Given the description of an element on the screen output the (x, y) to click on. 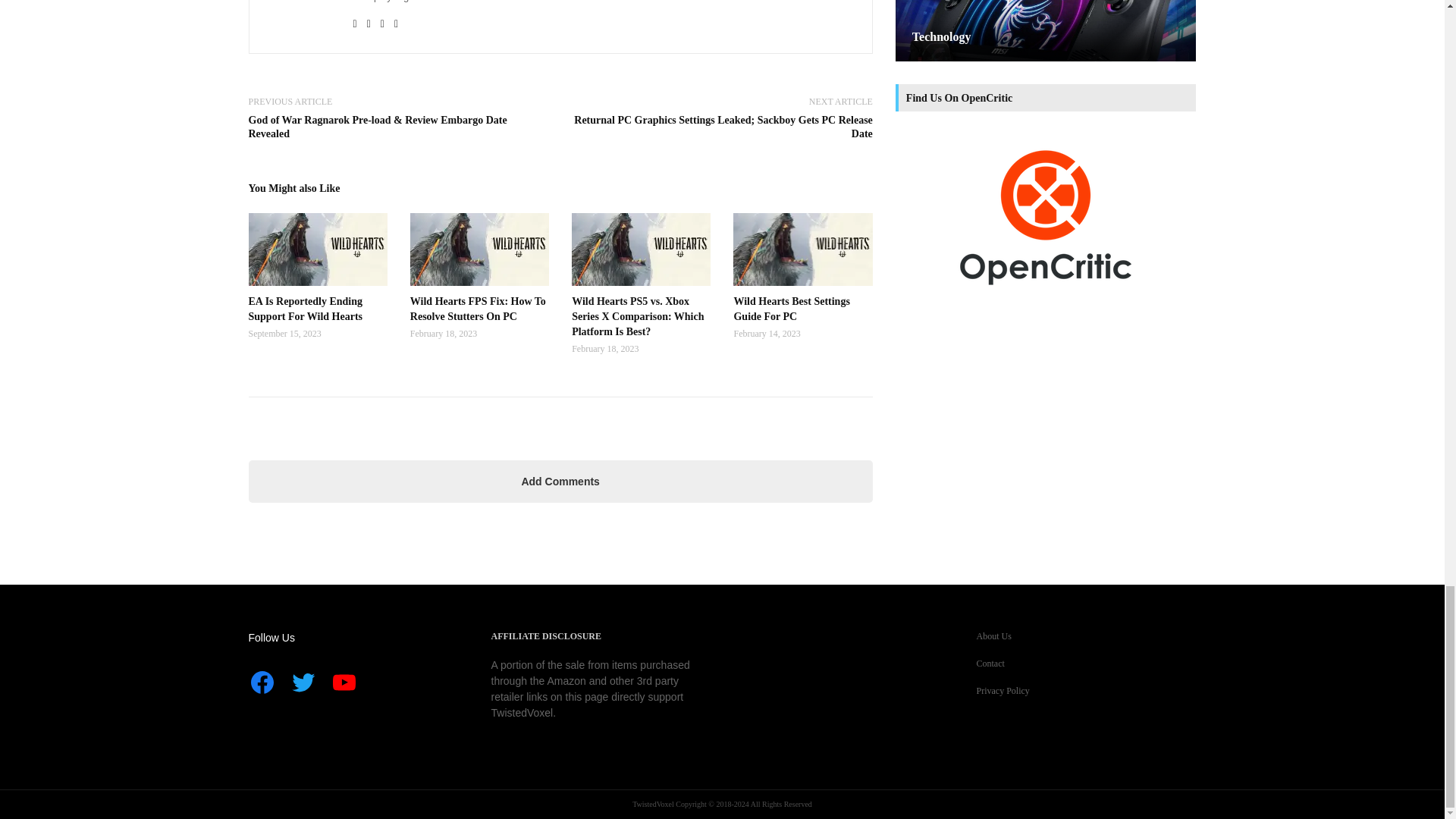
EA Is Reportedly Ending Support For Wild Hearts (317, 308)
